Given the description of an element on the screen output the (x, y) to click on. 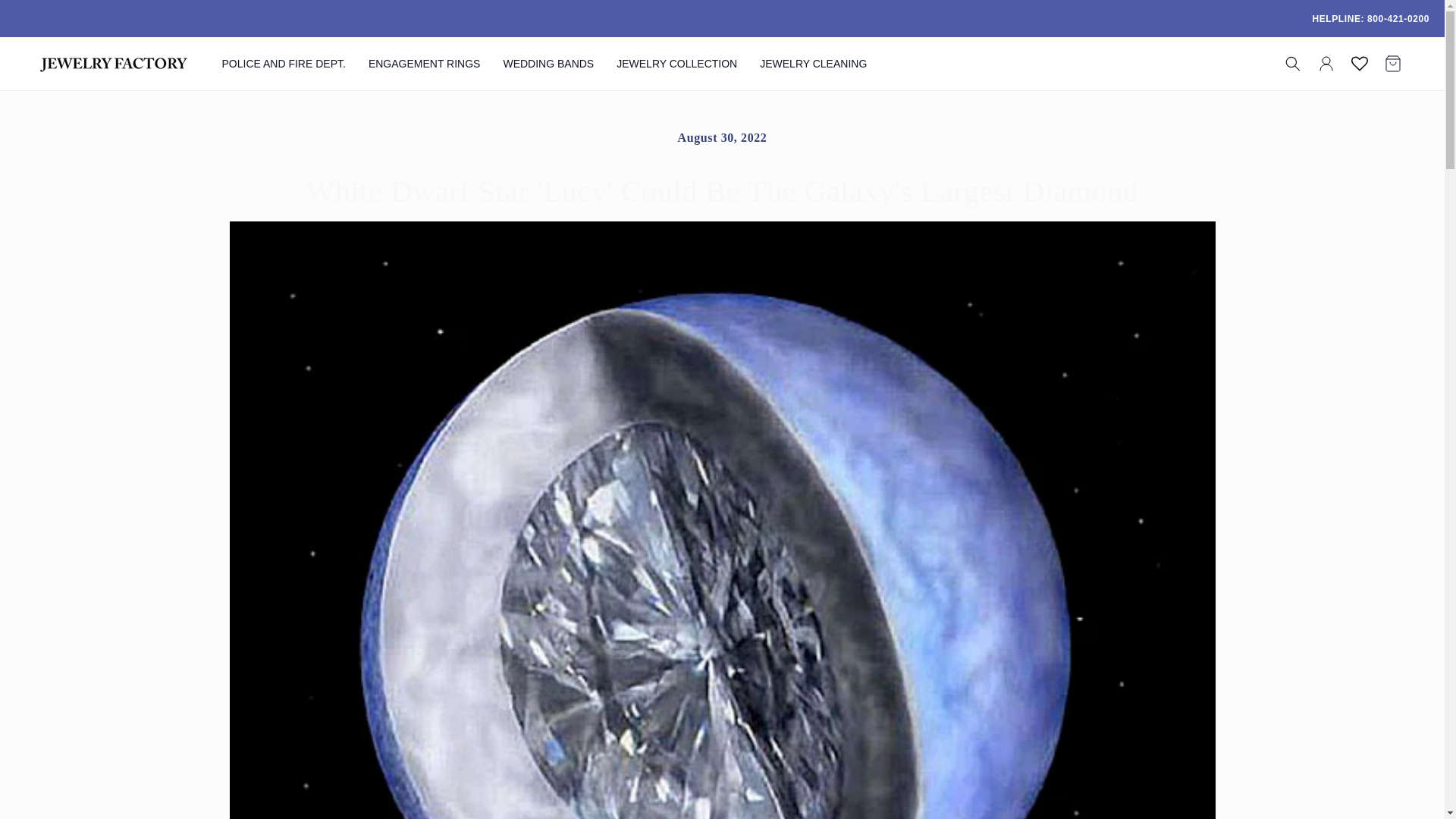
Skip to content (45, 17)
